Given the description of an element on the screen output the (x, y) to click on. 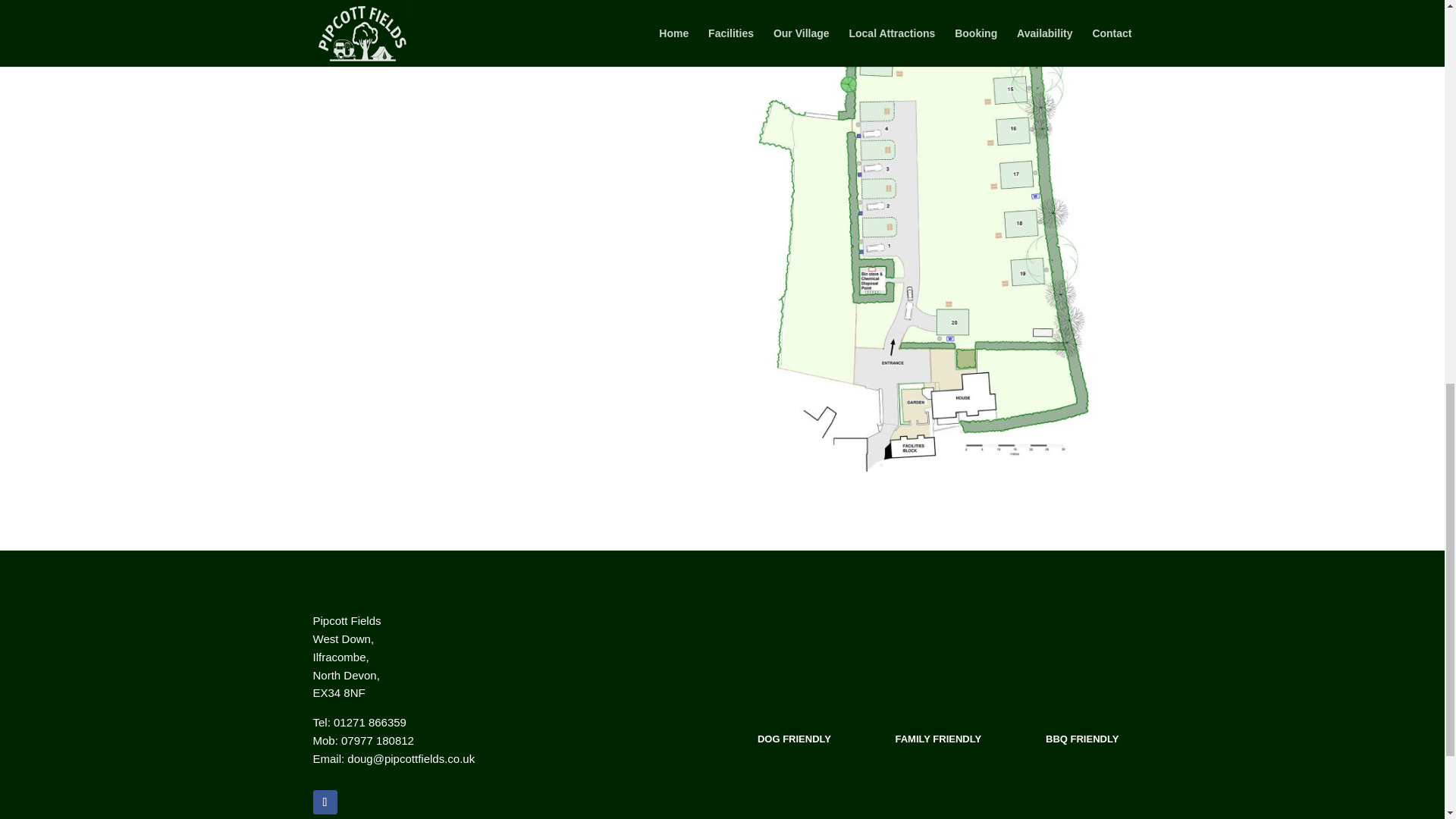
Follow on Facebook (324, 802)
